Given the description of an element on the screen output the (x, y) to click on. 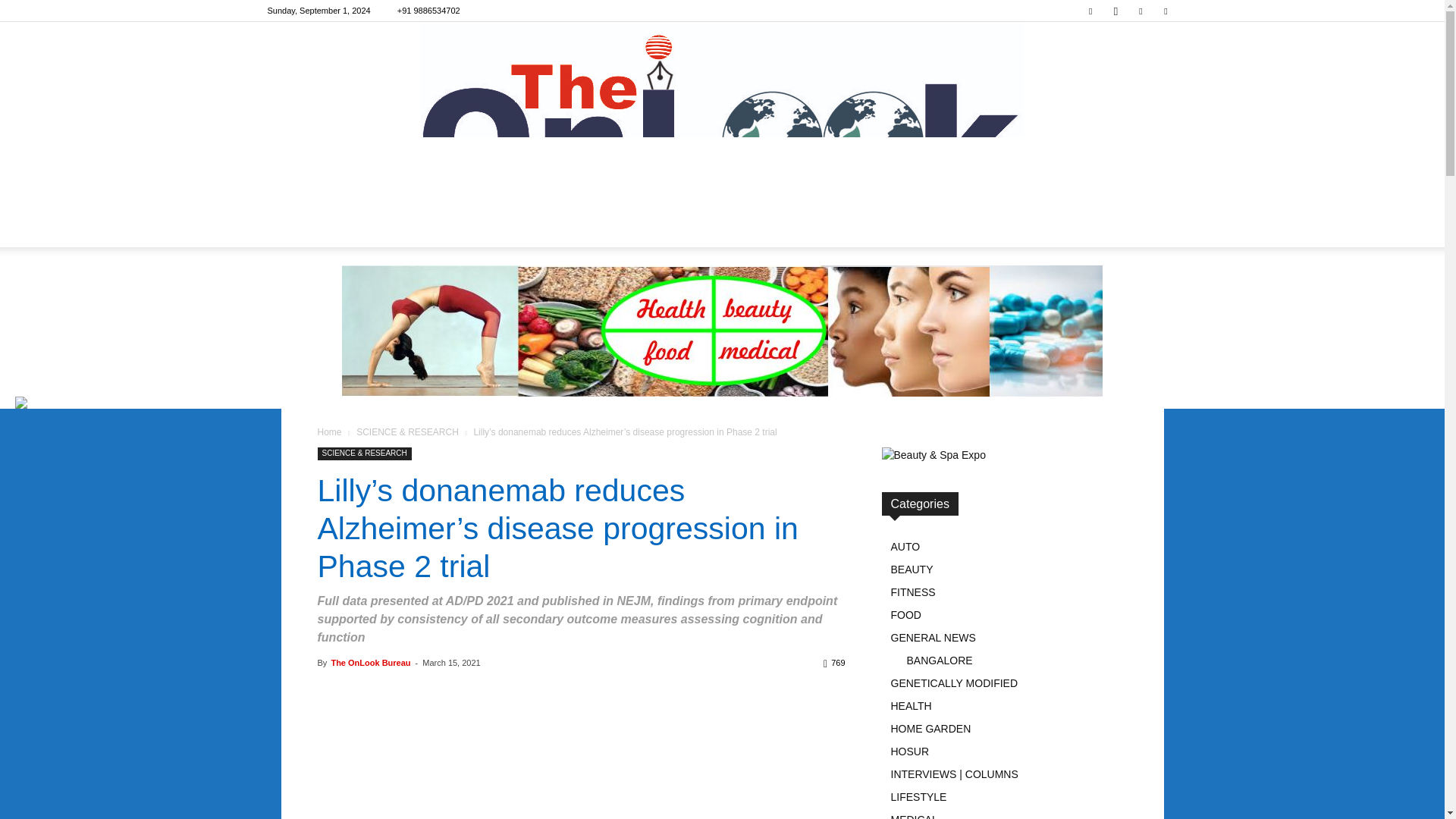
Linkedin (1140, 10)
BEAUTY (100, 228)
Instagram (1114, 10)
Automotive Lead (721, 116)
The OnLook (721, 116)
HOME (41, 228)
Facebook (1090, 10)
HEALTH (164, 228)
Twitter (1165, 10)
FOOD (221, 228)
